Given the description of an element on the screen output the (x, y) to click on. 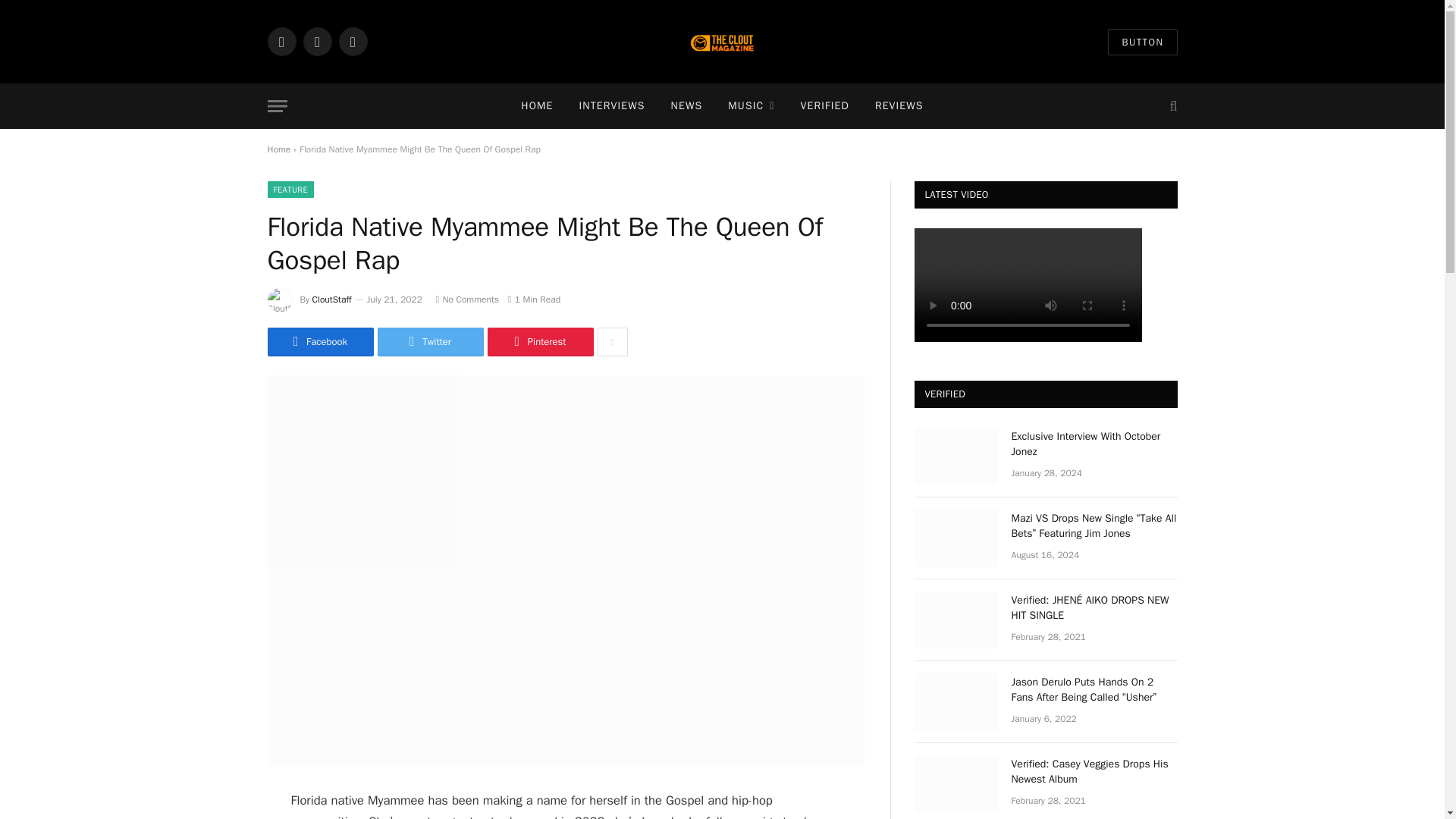
HOME (537, 105)
The Clout Magazine (722, 41)
Share on Twitter (319, 341)
BUTTON (1142, 41)
Twitter (316, 41)
Share on Twitter (430, 341)
INTERVIEWS (612, 105)
Facebook (280, 41)
NEWS (687, 105)
